Given the description of an element on the screen output the (x, y) to click on. 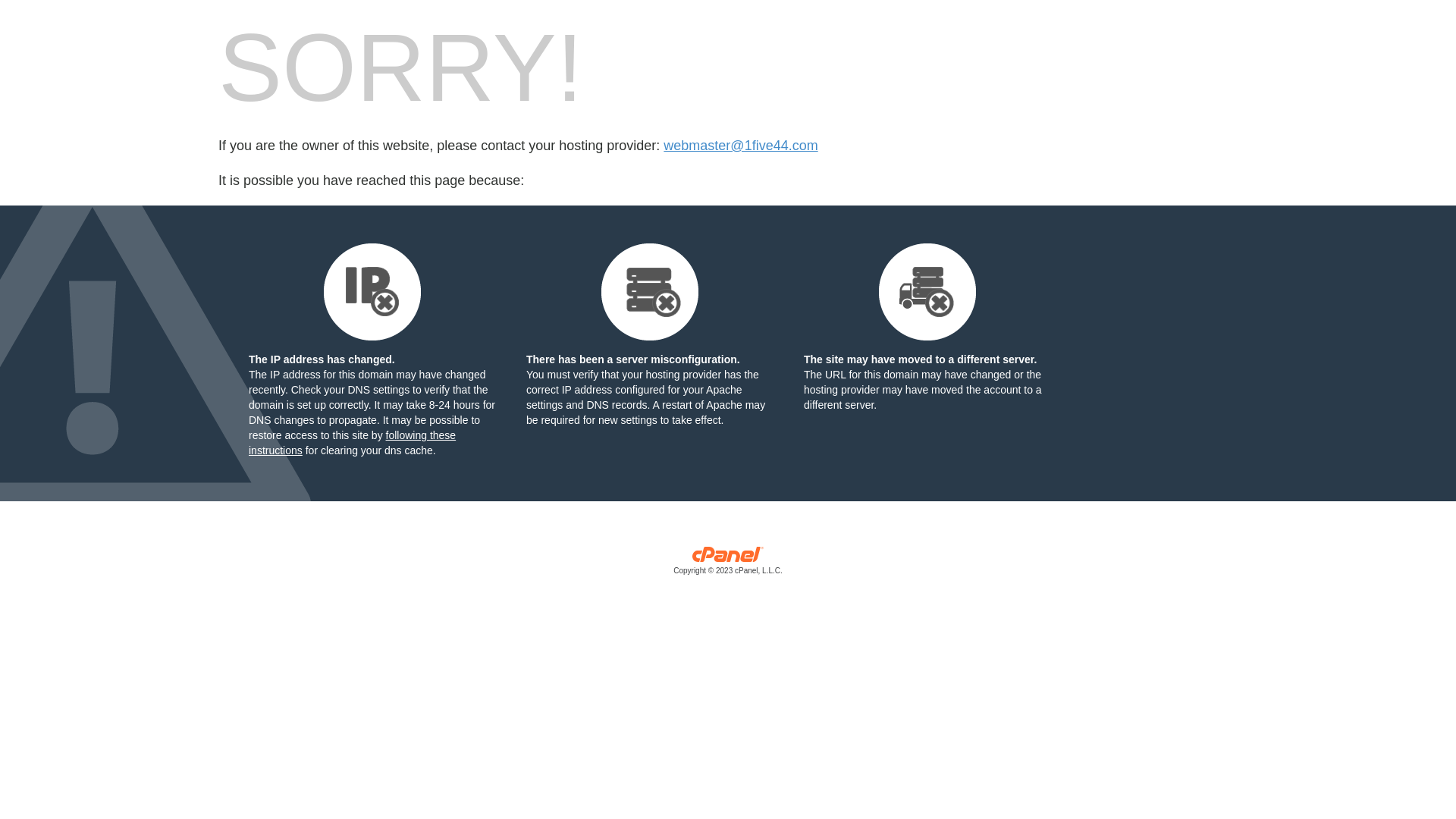
following these instructions Element type: text (351, 442)
webmaster@1five44.com Element type: text (740, 145)
